Given the description of an element on the screen output the (x, y) to click on. 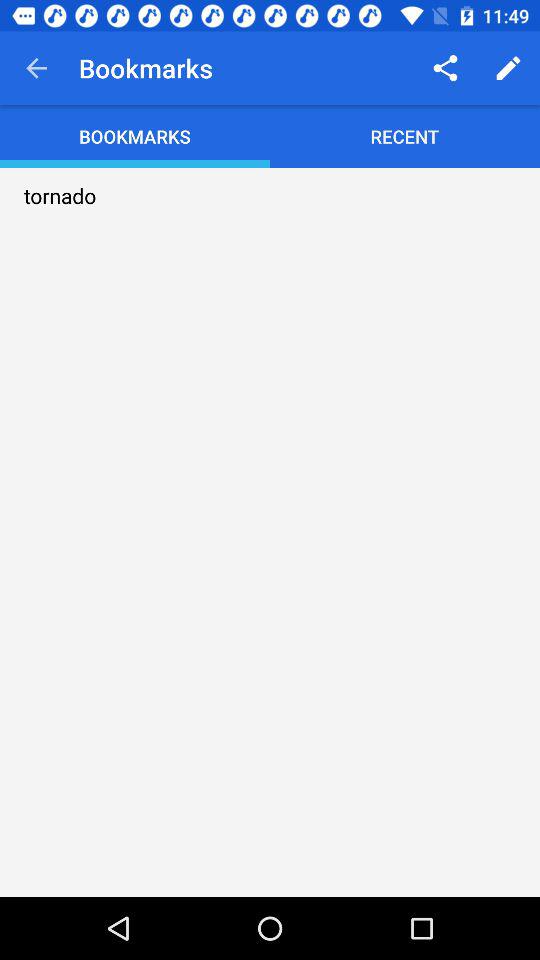
click the icon next to bookmarks item (444, 67)
